Given the description of an element on the screen output the (x, y) to click on. 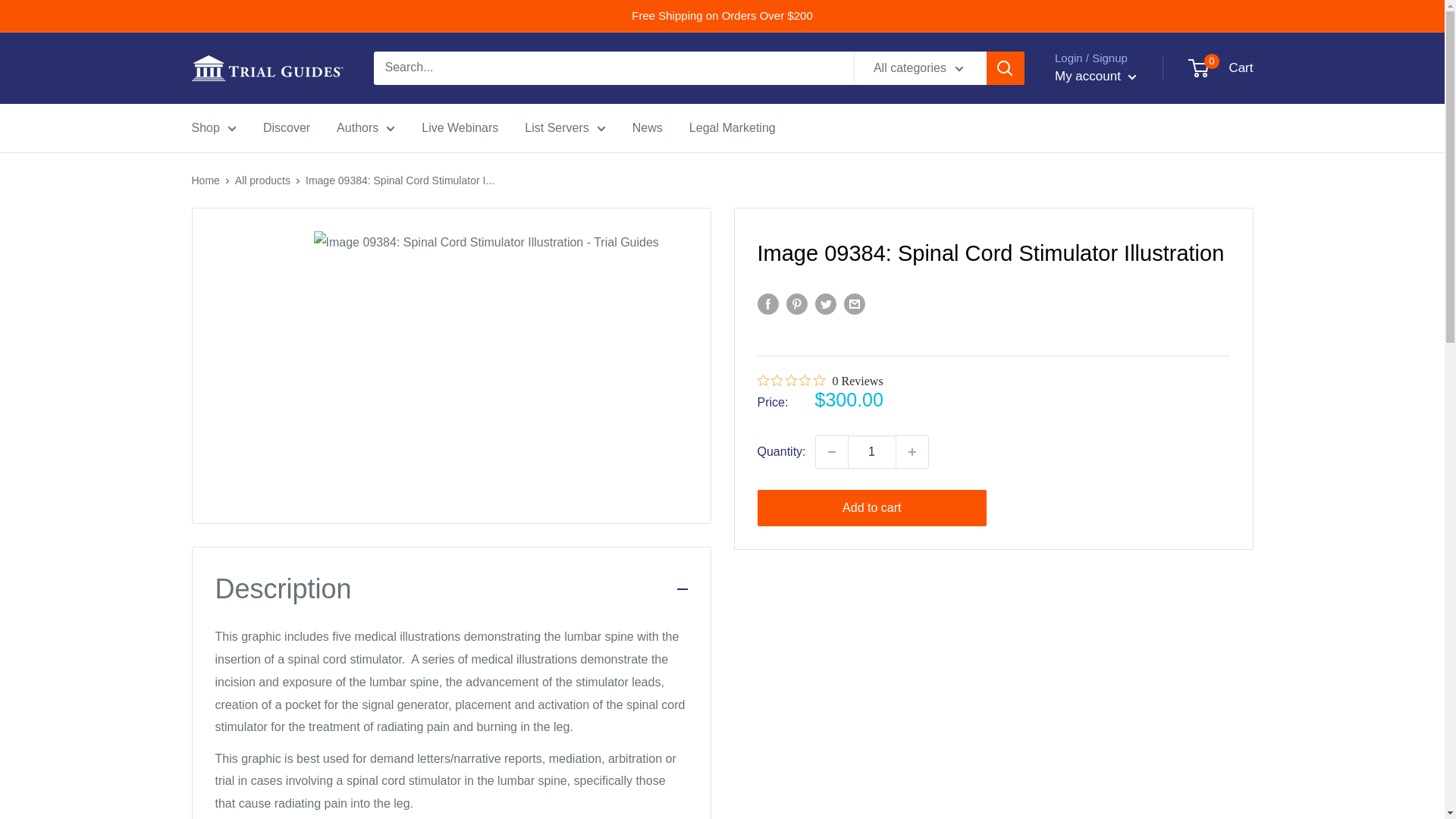
Decrease quantity by 1 (831, 451)
Trial Guides (266, 68)
Increase quantity by 1 (912, 451)
0 Reviews (819, 381)
1 (871, 451)
